Given the description of an element on the screen output the (x, y) to click on. 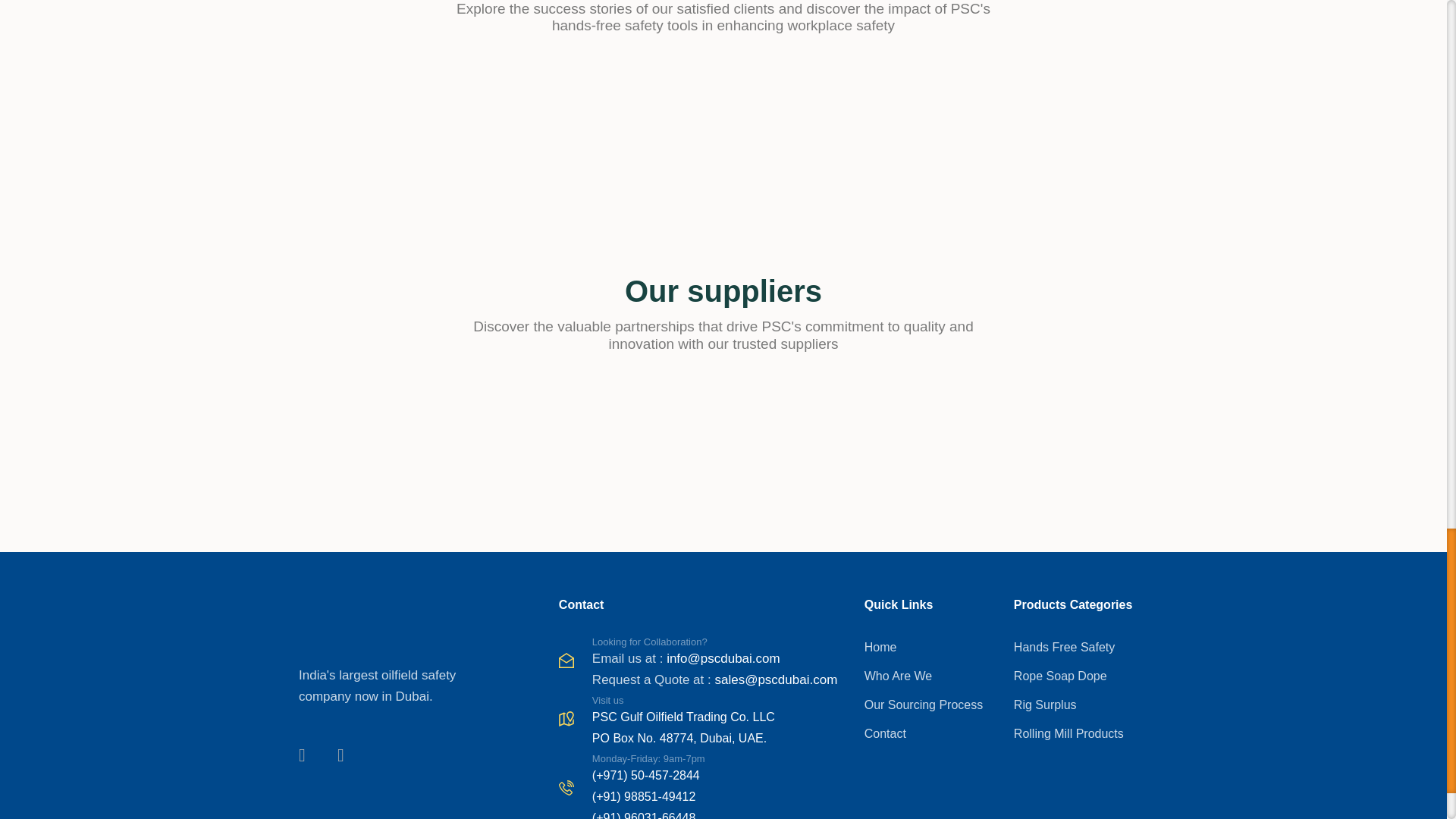
Rope Soap Dope (1080, 676)
Rolling Mill Products (1080, 733)
Hands Free Safety (1080, 647)
Contact (931, 733)
Our Sourcing Process (931, 704)
Rig Surplus (1080, 704)
Who Are We (931, 676)
Home (931, 647)
